Given the description of an element on the screen output the (x, y) to click on. 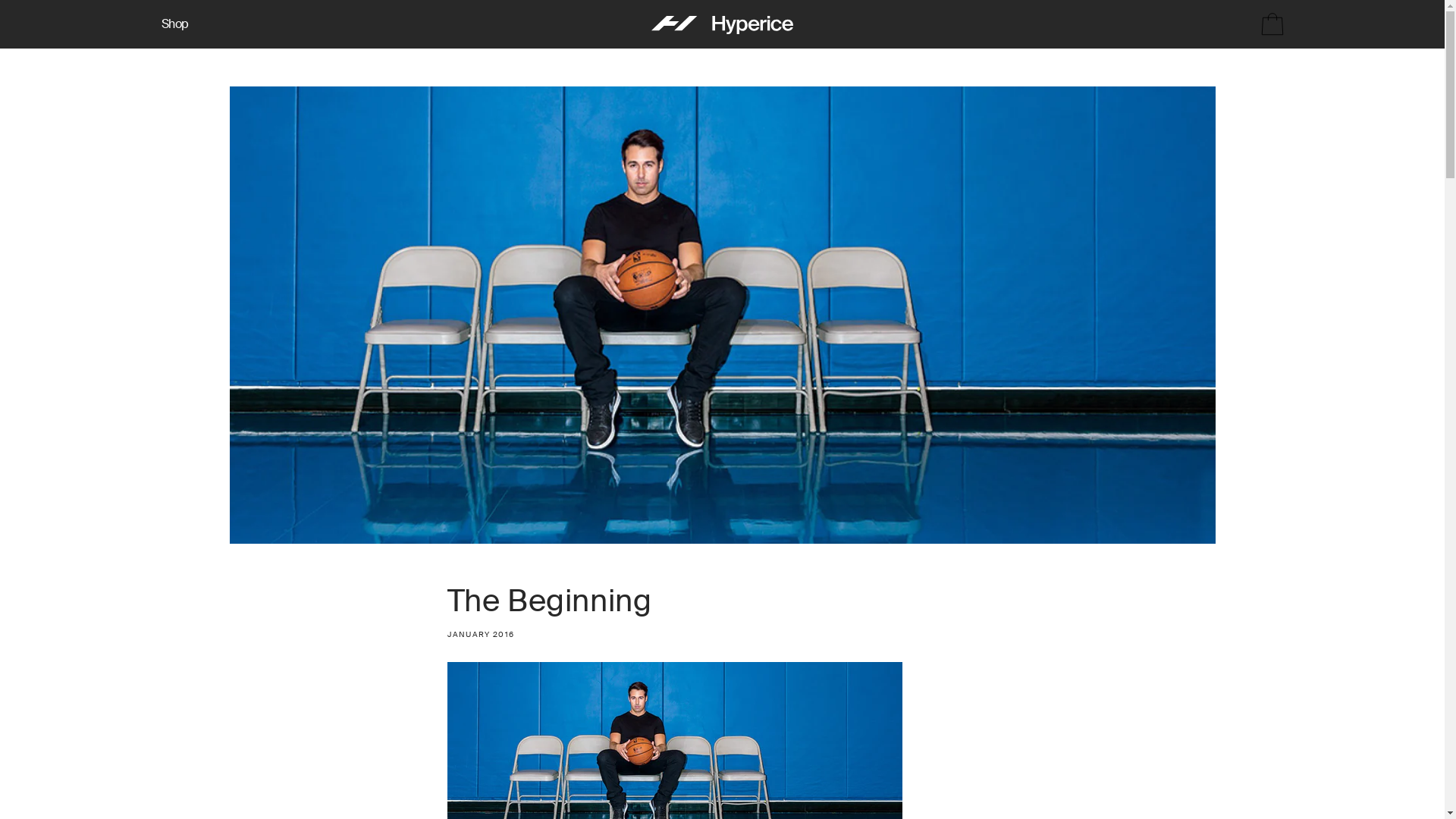
Shop Element type: text (174, 23)
Cart Element type: text (1266, 23)
